Given the description of an element on the screen output the (x, y) to click on. 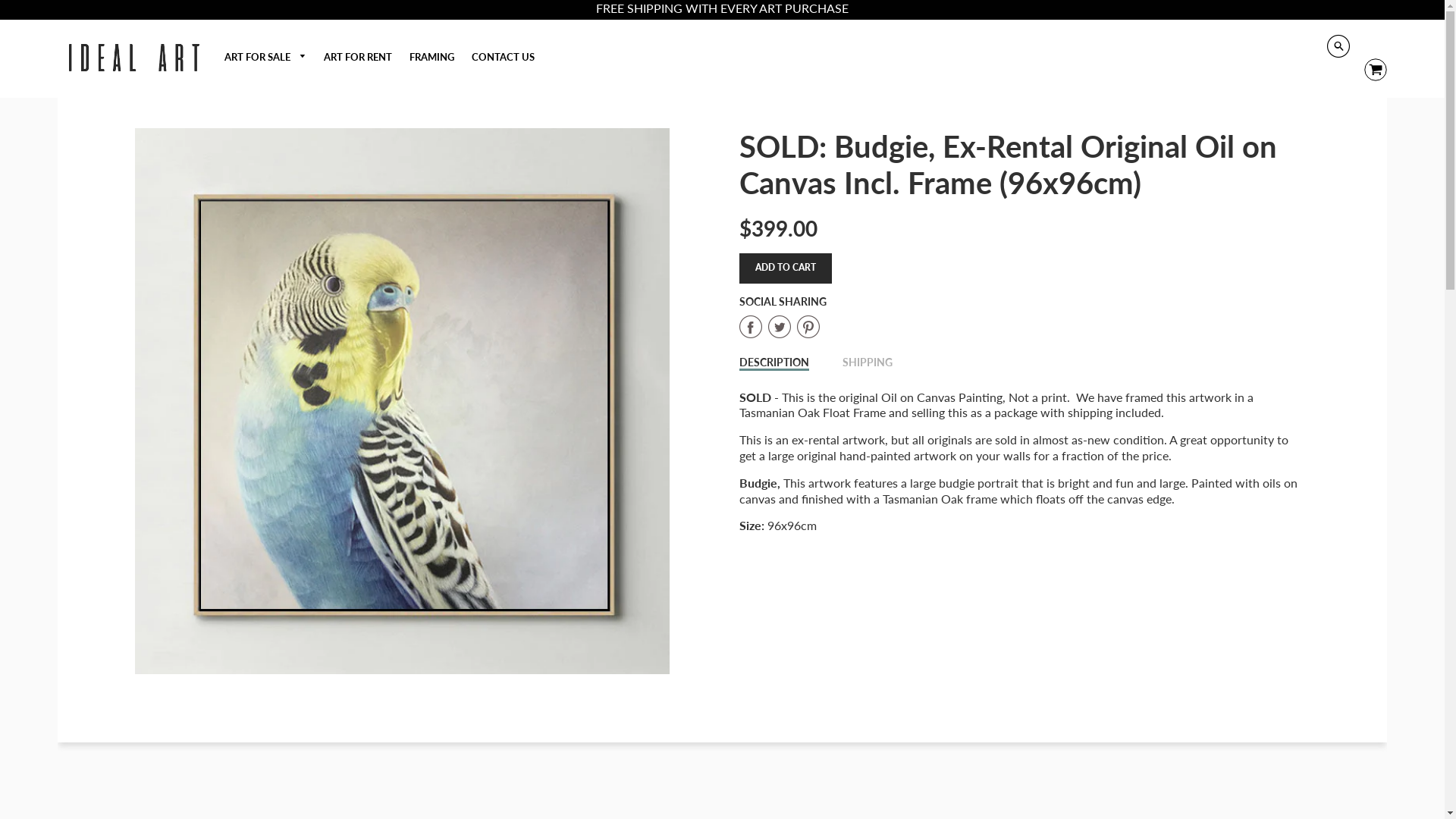
CART ERROR
ADD TO CART Element type: text (785, 268)
ART FOR SALE Element type: text (264, 57)
Share on Twitter Element type: text (782, 327)
ART FOR RENT Element type: text (357, 56)
image/svg+xml Layer 1 Element type: text (1369, 69)
Share on Pinterest Element type: text (808, 327)
SHIPPING Element type: text (867, 361)
FRAMING Element type: text (431, 56)
CONTACT US Element type: text (503, 56)
Share on Facebook Element type: text (753, 327)
DESCRIPTION Element type: text (774, 362)
